Given the description of an element on the screen output the (x, y) to click on. 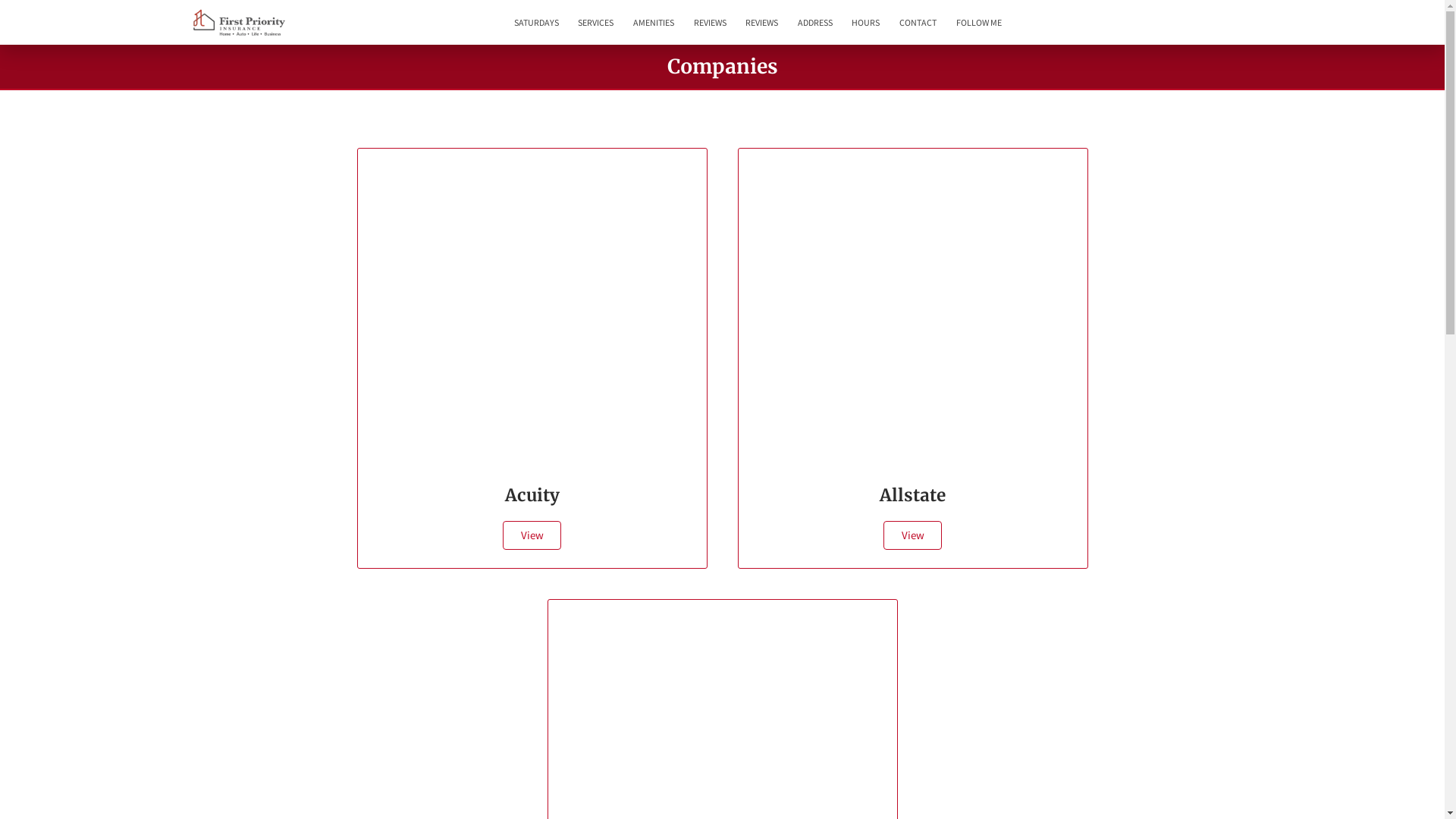
SATURDAYS Element type: text (536, 22)
AMENITIES Element type: text (653, 22)
REVIEWS Element type: text (761, 22)
ADDRESS Element type: text (814, 22)
FOLLOW ME Element type: text (978, 22)
Acuity
View Element type: text (531, 357)
Allstate
View Element type: text (912, 357)
HOURS Element type: text (866, 22)
REVIEWS Element type: text (710, 22)
SERVICES Element type: text (596, 22)
CONTACT Element type: text (917, 22)
